Given the description of an element on the screen output the (x, y) to click on. 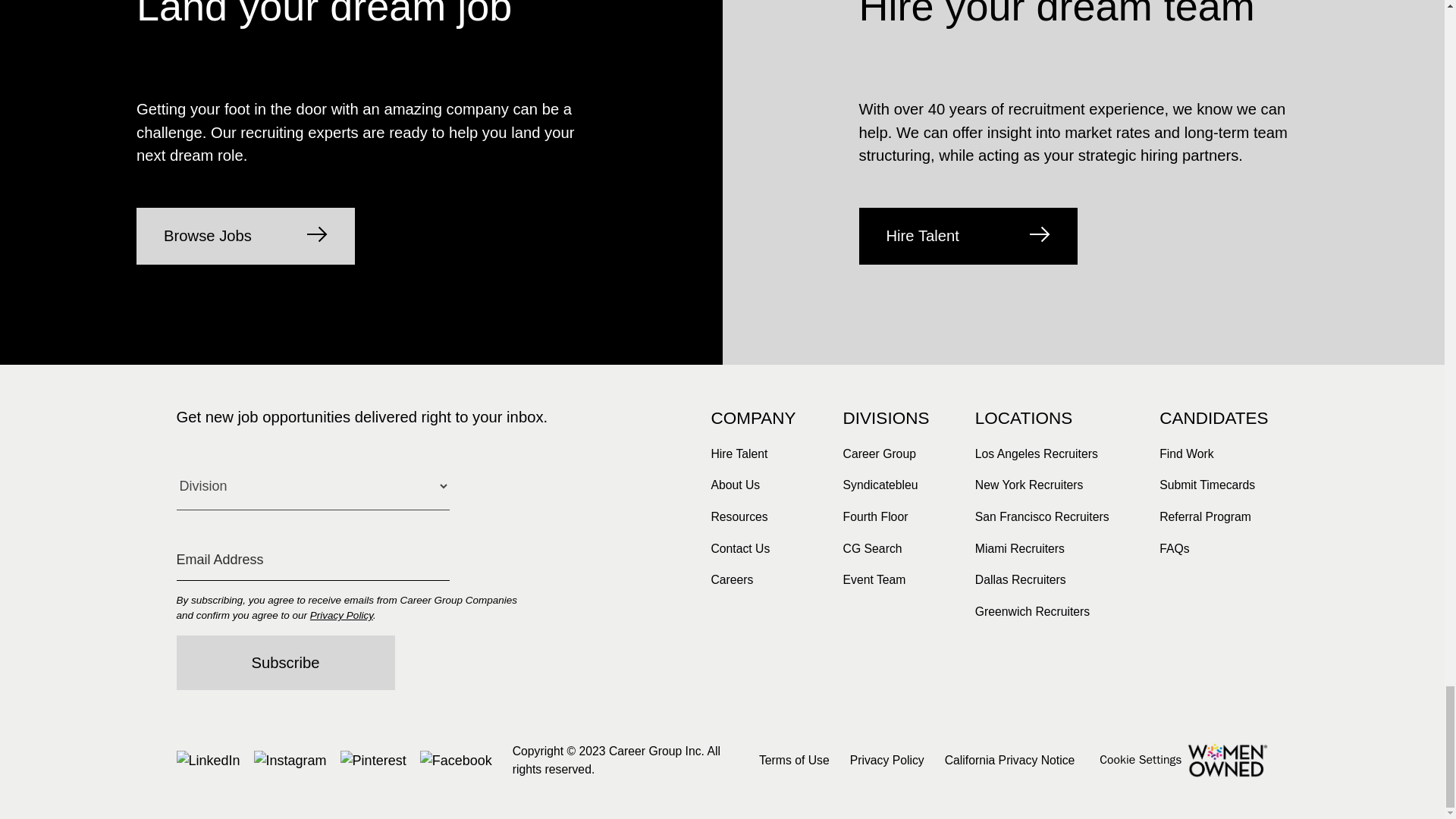
Subscribe (285, 662)
